Given the description of an element on the screen output the (x, y) to click on. 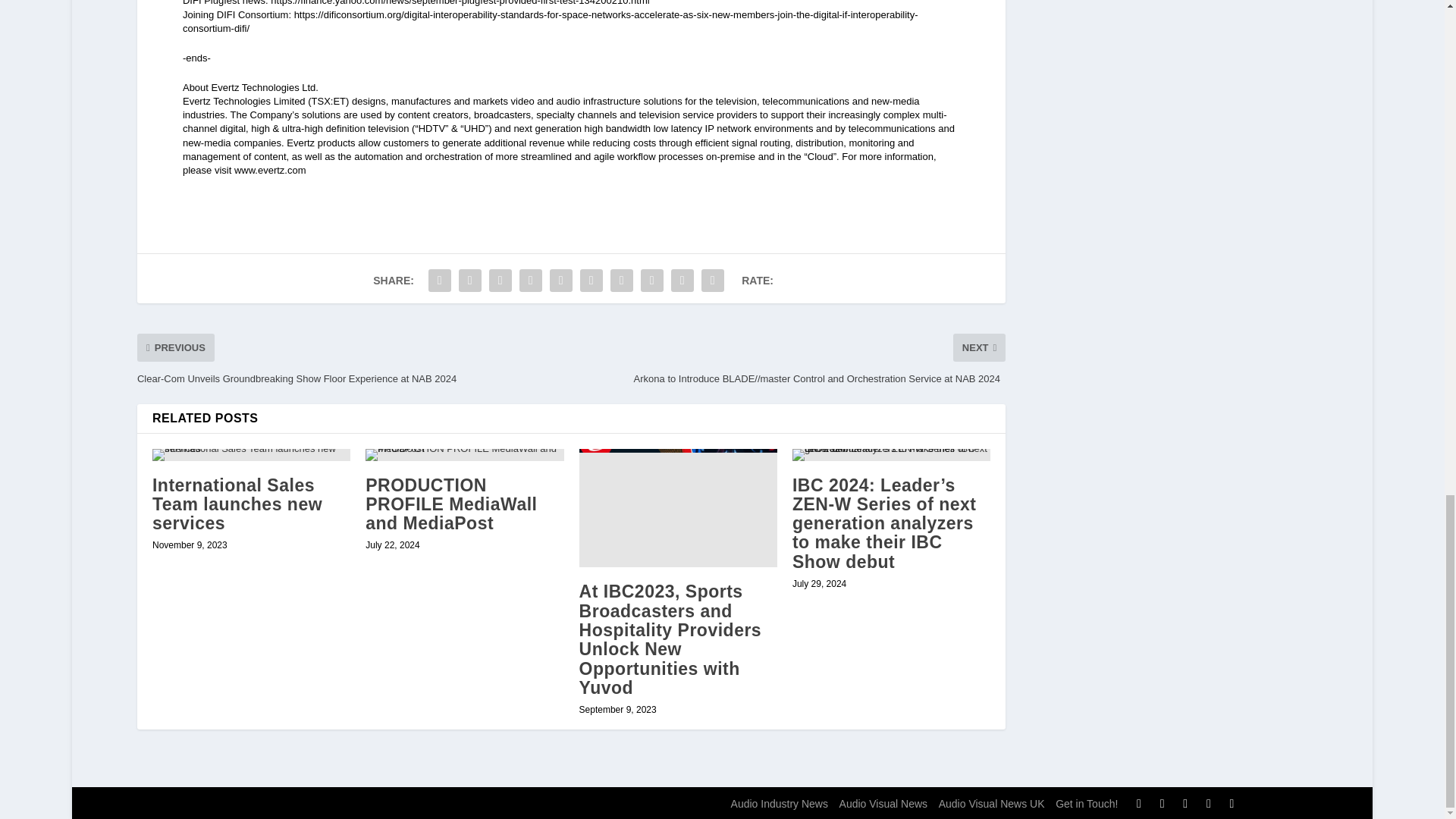
PRODUCTION PROFILE MediaWall and MediaPost (451, 504)
International Sales Team launches new services (251, 454)
International Sales Team launches new services (236, 504)
